Given the description of an element on the screen output the (x, y) to click on. 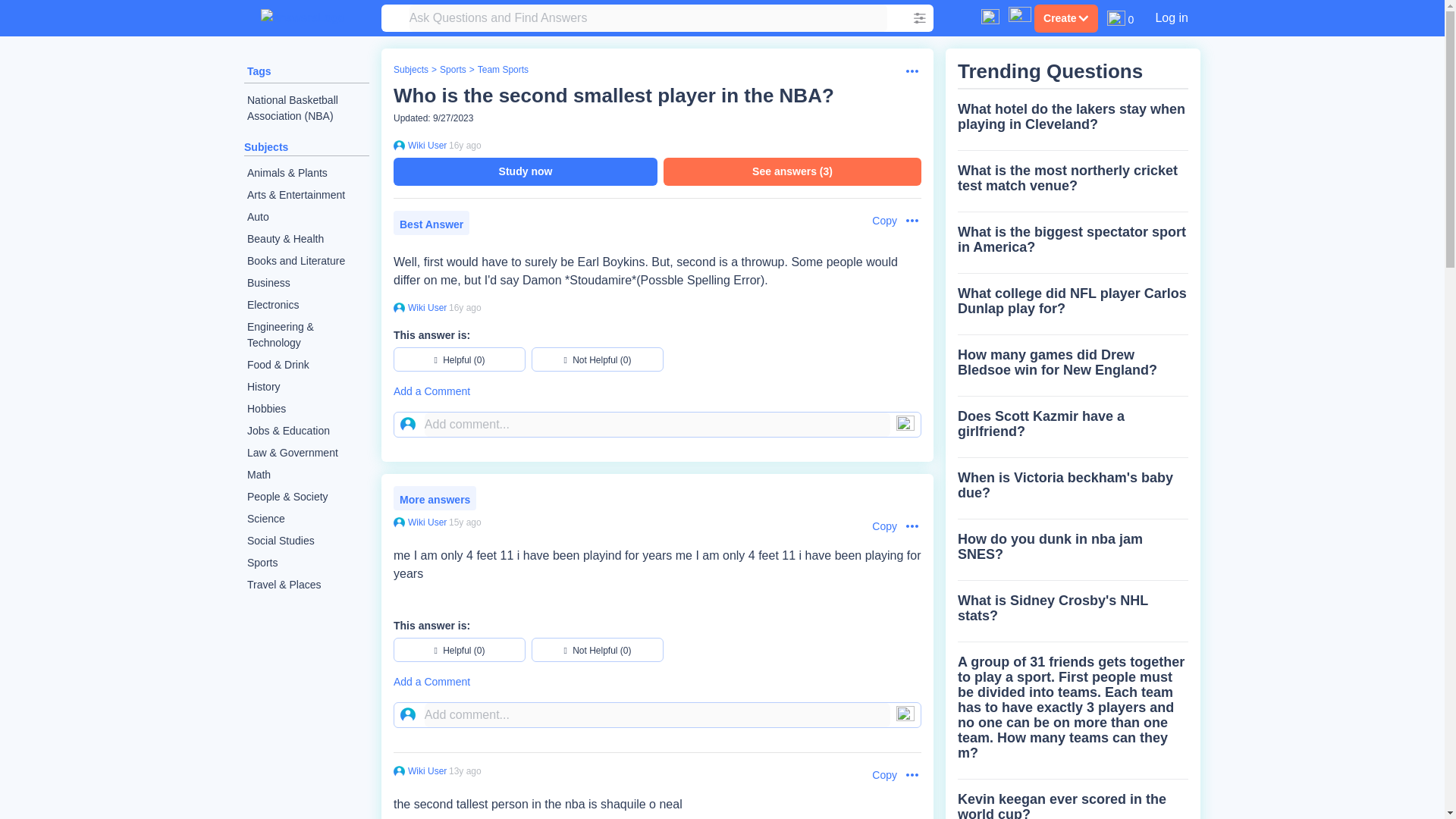
Business (306, 282)
Study now (525, 171)
Auto (306, 217)
Copy (876, 220)
2008-02-15 14:39:56 (464, 307)
2008-02-15 14:39:56 (464, 145)
Social Studies (306, 540)
2010-12-19 21:02:20 (464, 770)
Team Sports (502, 69)
Science (306, 518)
